Given the description of an element on the screen output the (x, y) to click on. 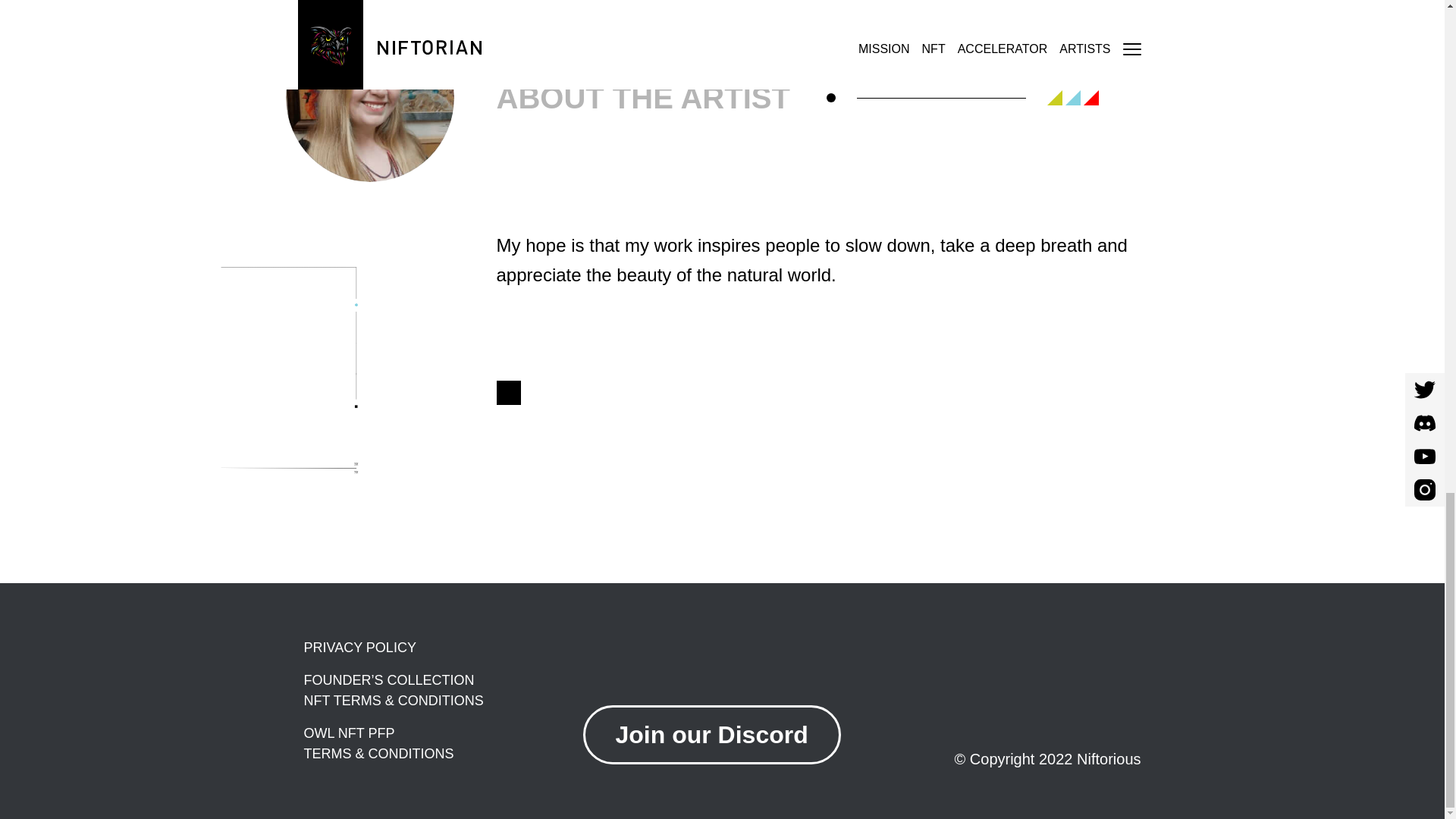
PRIVACY POLICY (442, 647)
